Given the description of an element on the screen output the (x, y) to click on. 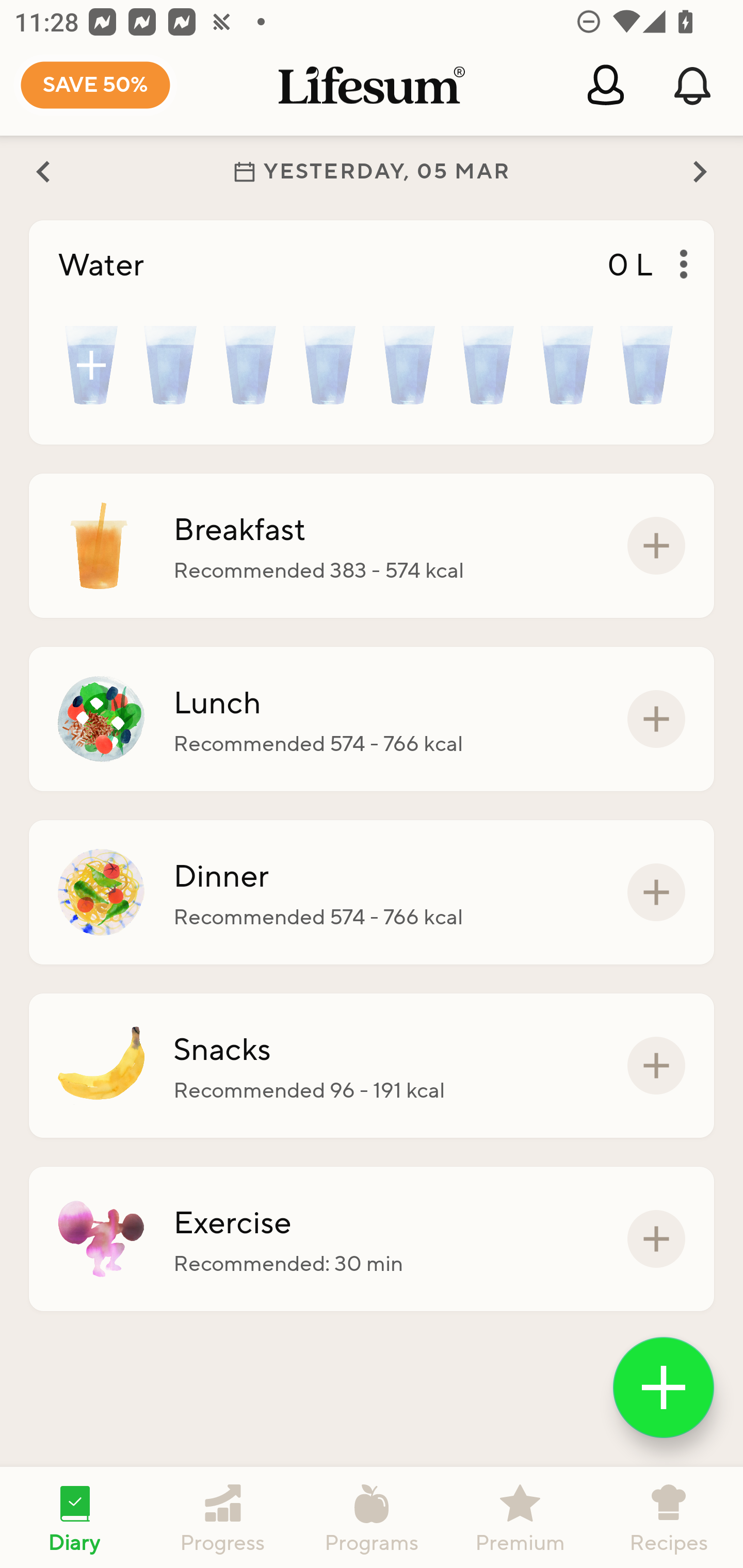
YESTERDAY, 05 MAR (371, 171)
Breakfast Recommended 383 - 574 kcal (371, 545)
Lunch Recommended 574 - 766 kcal (371, 718)
Dinner Recommended 574 - 766 kcal (371, 892)
Snacks Recommended 96 - 191 kcal (371, 1066)
Exercise Recommended: 30 min (371, 1238)
Progress (222, 1517)
Programs (371, 1517)
Premium (519, 1517)
Recipes (668, 1517)
